Given the description of an element on the screen output the (x, y) to click on. 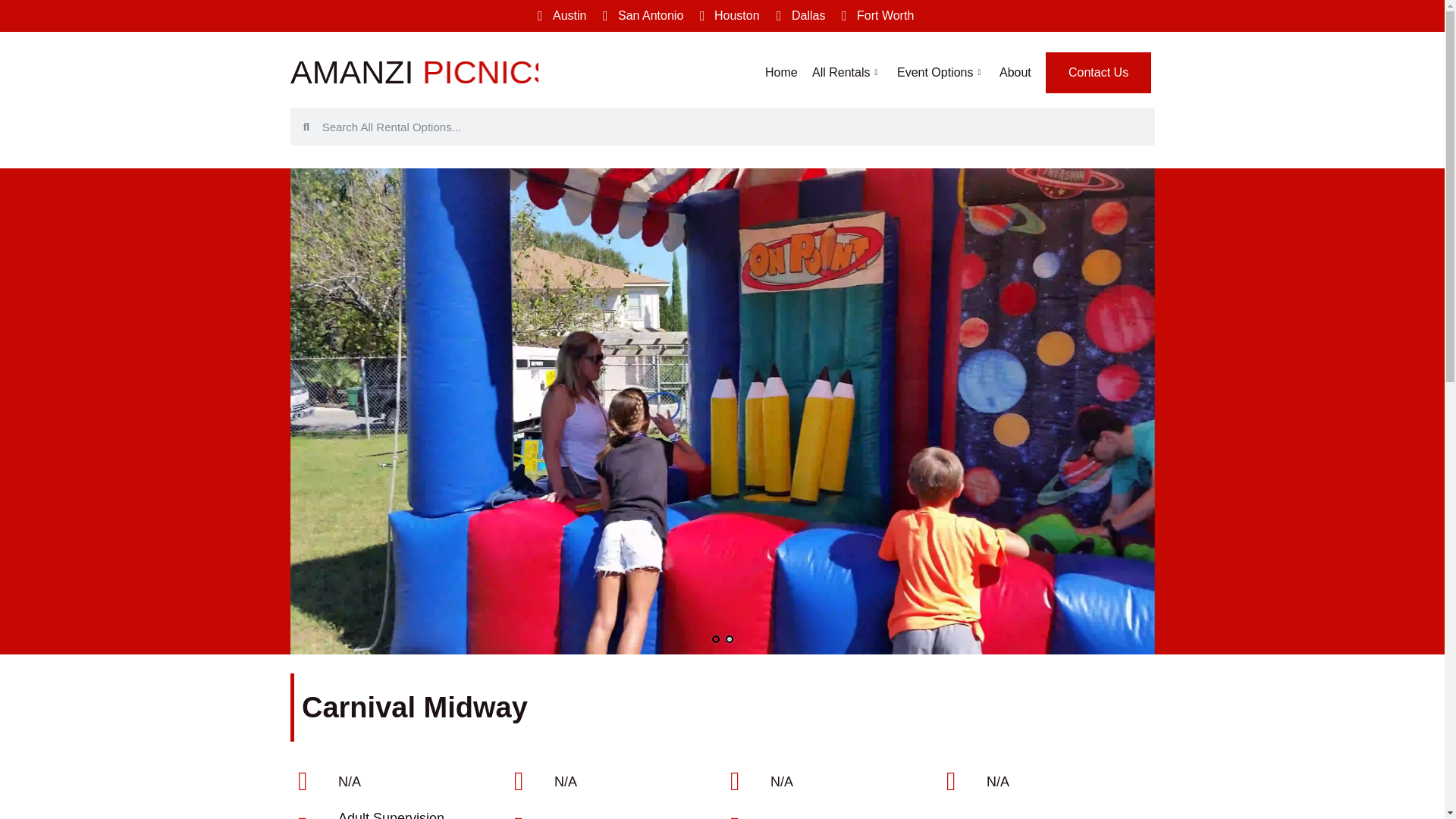
Austin (413, 82)
Fort Worth (558, 15)
All Rentals (874, 15)
San Antonio (847, 72)
Event Options (639, 15)
Houston (940, 72)
Home (725, 15)
Dallas (781, 72)
